Given the description of an element on the screen output the (x, y) to click on. 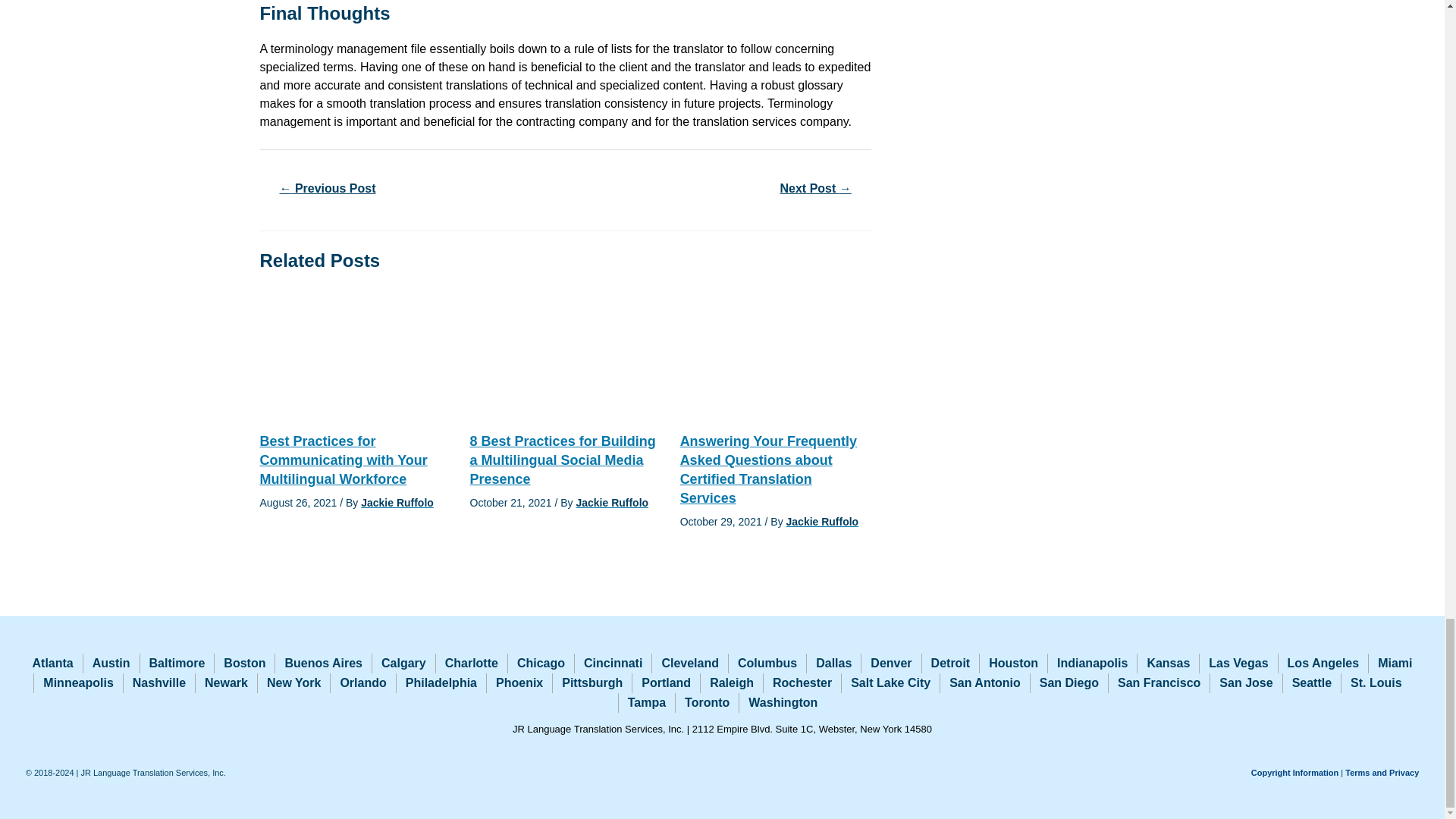
View all posts by Jackie Ruffolo (397, 502)
View all posts by Jackie Ruffolo (612, 502)
View all posts by Jackie Ruffolo (822, 521)
